Given the description of an element on the screen output the (x, y) to click on. 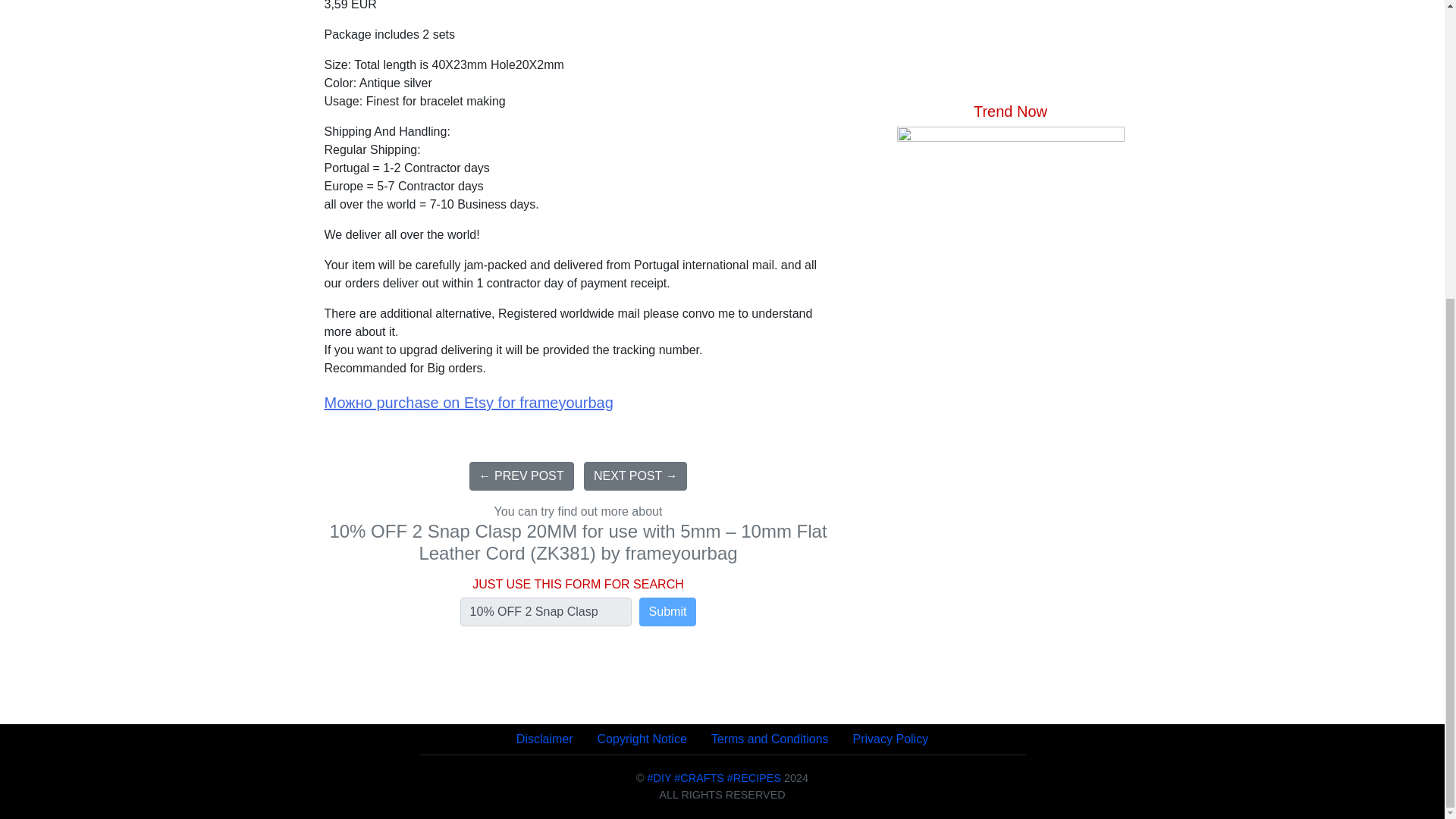
13 blackpink ideas (1009, 239)
13 blackpink ideas (1009, 302)
Submit (668, 611)
13 blackpink ideas (1009, 302)
